Given the description of an element on the screen output the (x, y) to click on. 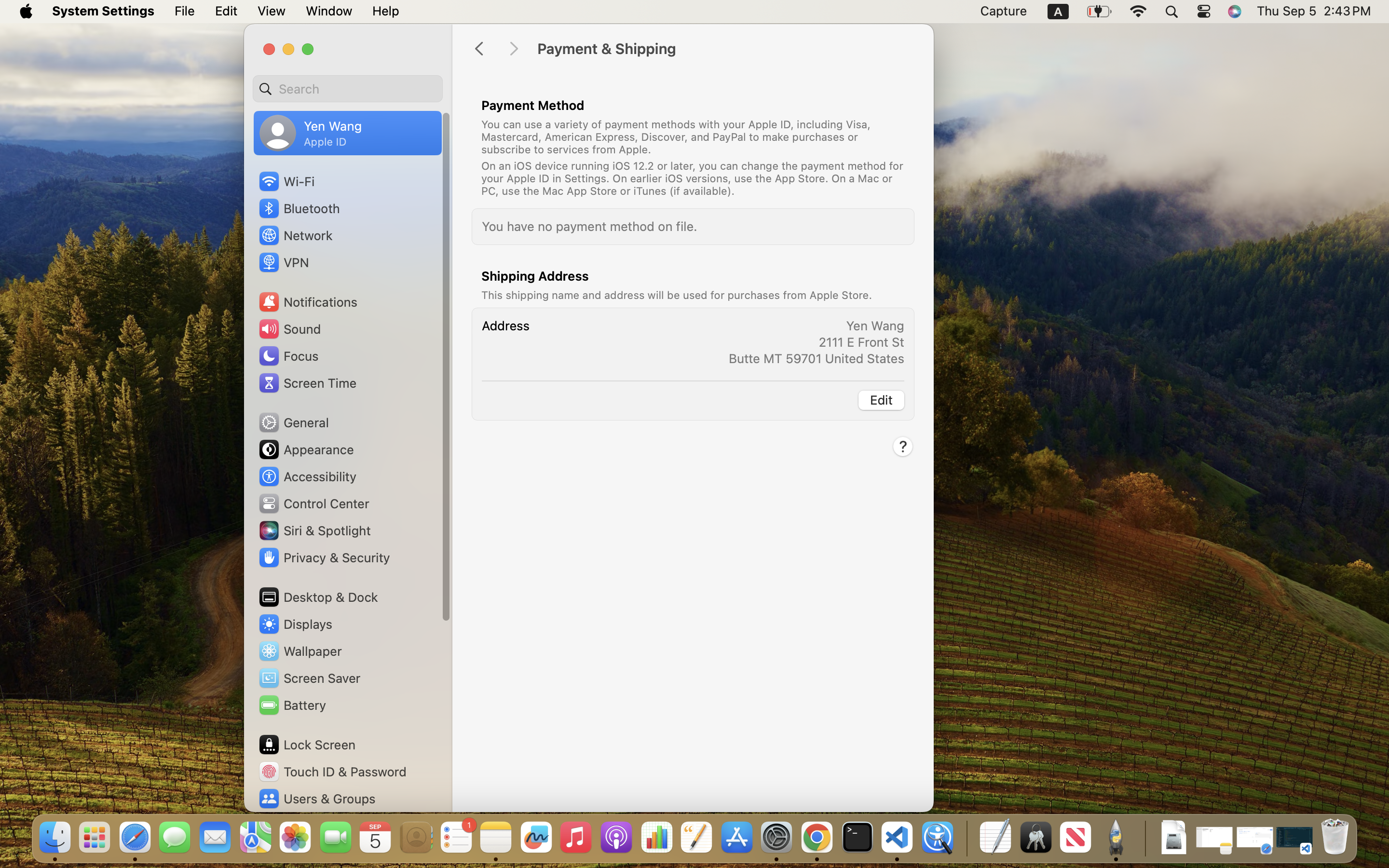
Yen Wang, Apple ID Element type: AXStaticText (310, 132)
Focus Element type: AXStaticText (287, 355)
Appearance Element type: AXStaticText (305, 449)
VPN Element type: AXStaticText (282, 261)
Accessibility Element type: AXStaticText (306, 476)
